Given the description of an element on the screen output the (x, y) to click on. 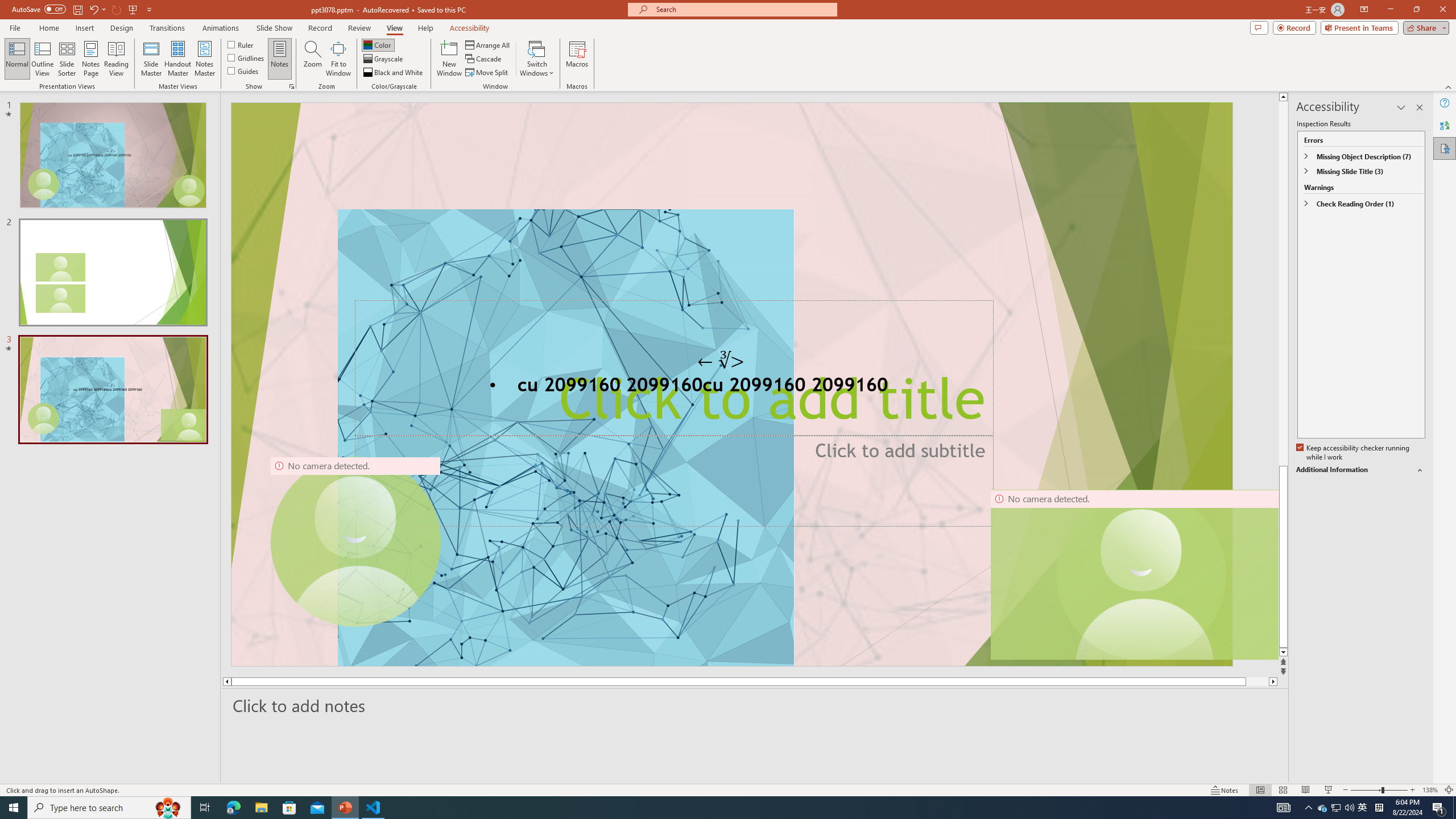
An abstract genetic concept (731, 384)
Color (377, 44)
Camera 9, No camera detected. (355, 542)
Ruler (241, 44)
Zoom... (312, 58)
